Given the description of an element on the screen output the (x, y) to click on. 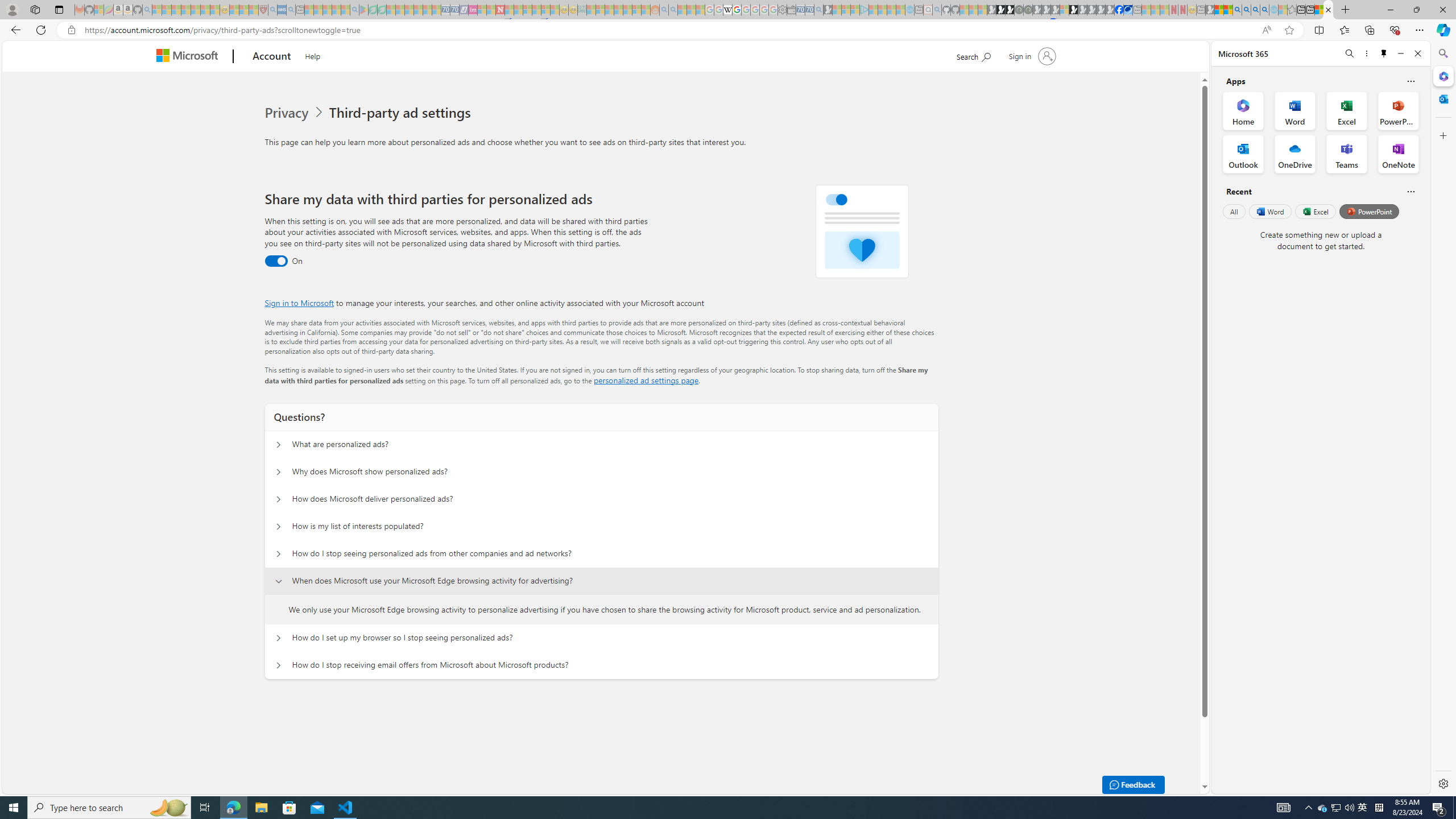
2009 Bing officially replaced Live Search on June 3 - Search (1246, 9)
Kinda Frugal - MSN - Sleeping (627, 9)
Questions? Why does Microsoft show personalized ads? (278, 472)
OneDrive Office App (1295, 154)
Excel (1315, 210)
Questions? How does Microsoft deliver personalized ads? (278, 499)
